Given the description of an element on the screen output the (x, y) to click on. 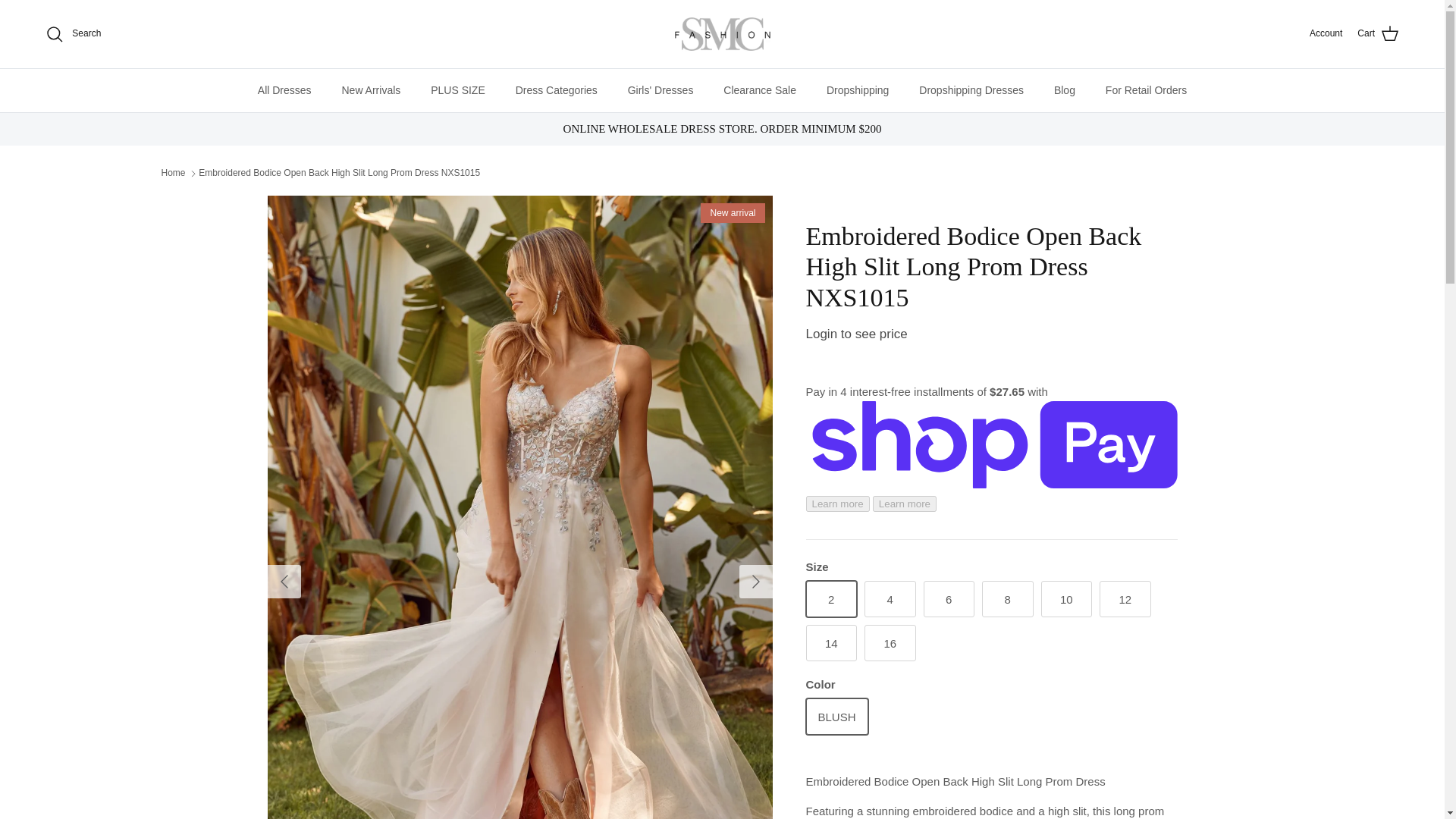
Search (72, 34)
All Dresses (284, 89)
New Arrivals (370, 89)
Cart (1377, 34)
Clearance Sale (759, 89)
smcfashion.com (721, 34)
Dropshipping Dresses (970, 89)
Account (1325, 33)
Dropshipping (857, 89)
Dress Categories (556, 89)
